Given the description of an element on the screen output the (x, y) to click on. 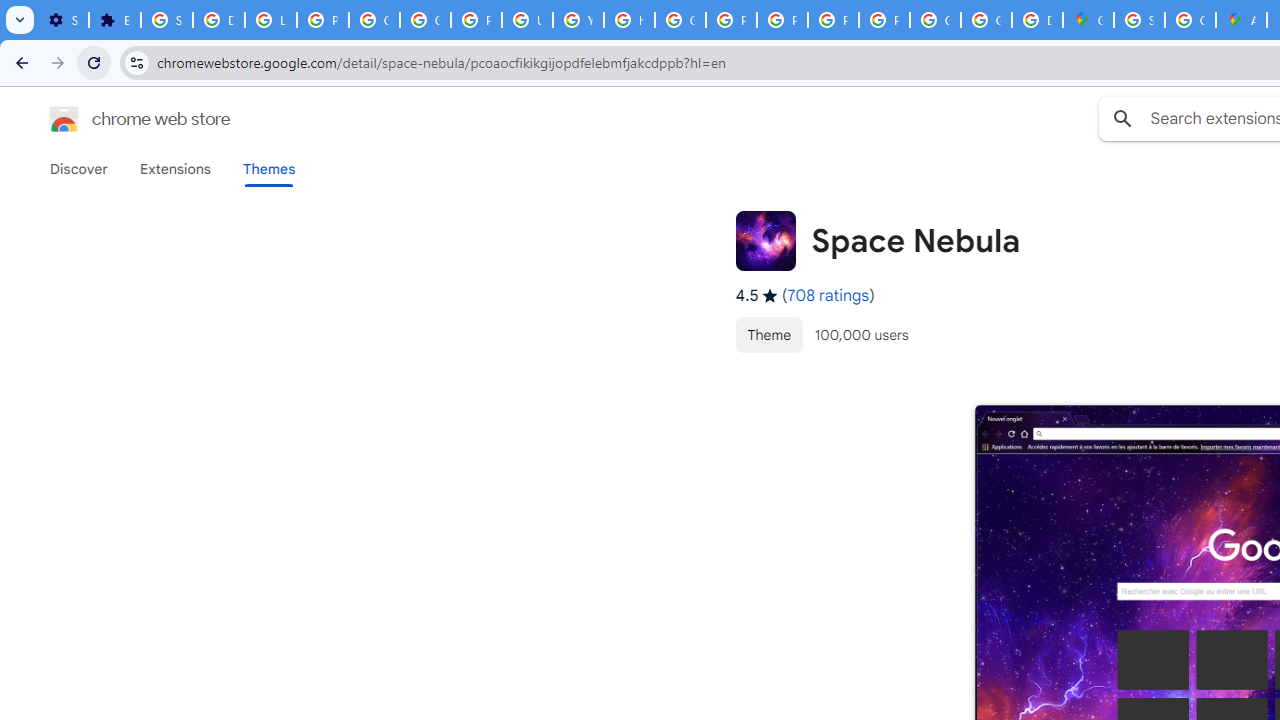
Google Maps (1087, 20)
Sign in - Google Accounts (166, 20)
Theme (768, 334)
Chrome Web Store logo (63, 118)
Settings - On startup (63, 20)
Item logo image for Space Nebula (765, 240)
